Given the description of an element on the screen output the (x, y) to click on. 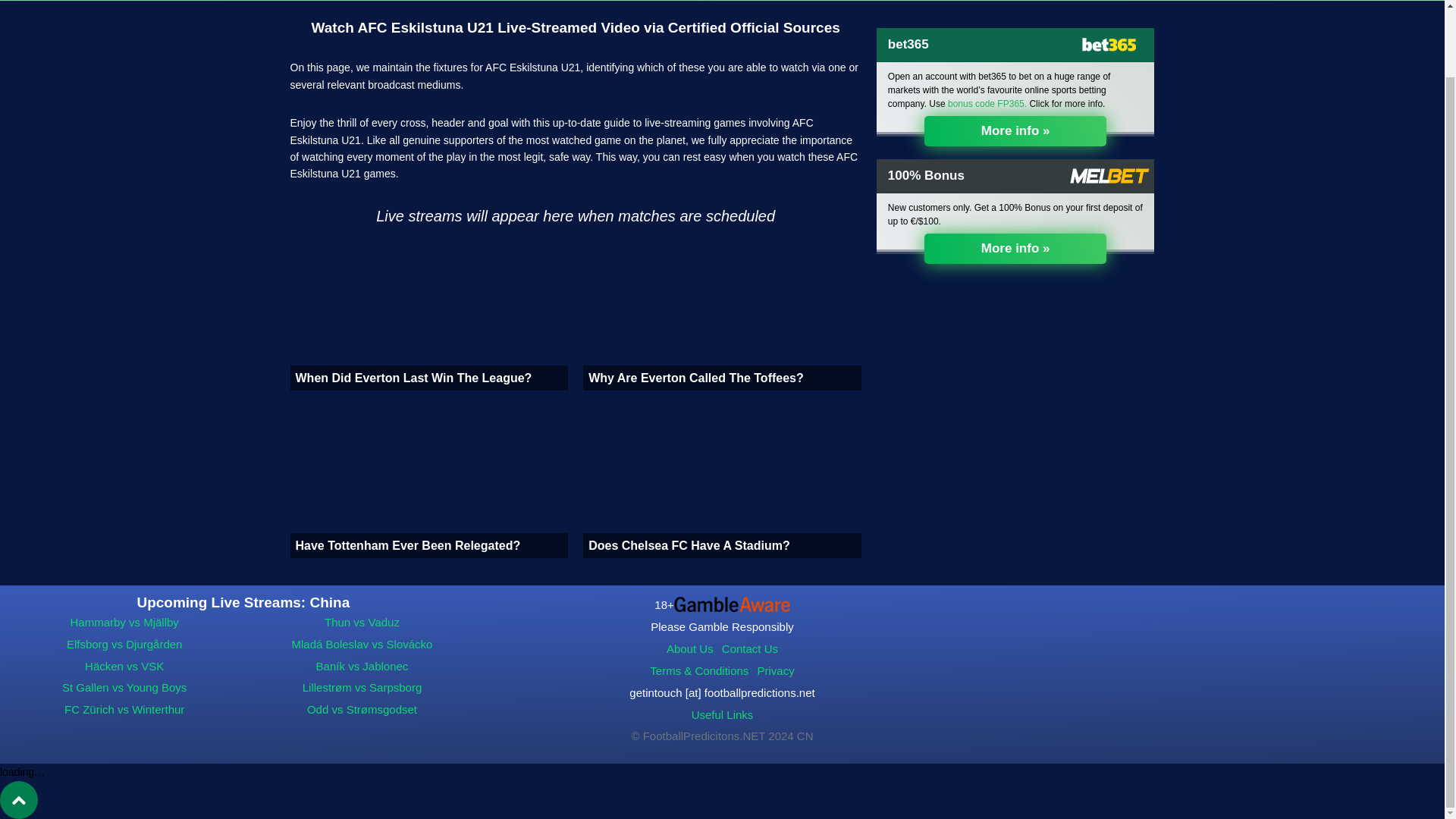
Does Chelsea FC Have A Stadium? (722, 481)
When Did Everton Last Win The League? (428, 314)
ACCAS (494, 0)
bonus code FP365. (986, 103)
Have Tottenham Ever Been Relegated? (428, 481)
SURE BETS (360, 0)
Why Are Everton Called The Toffees? (722, 314)
